Given the description of an element on the screen output the (x, y) to click on. 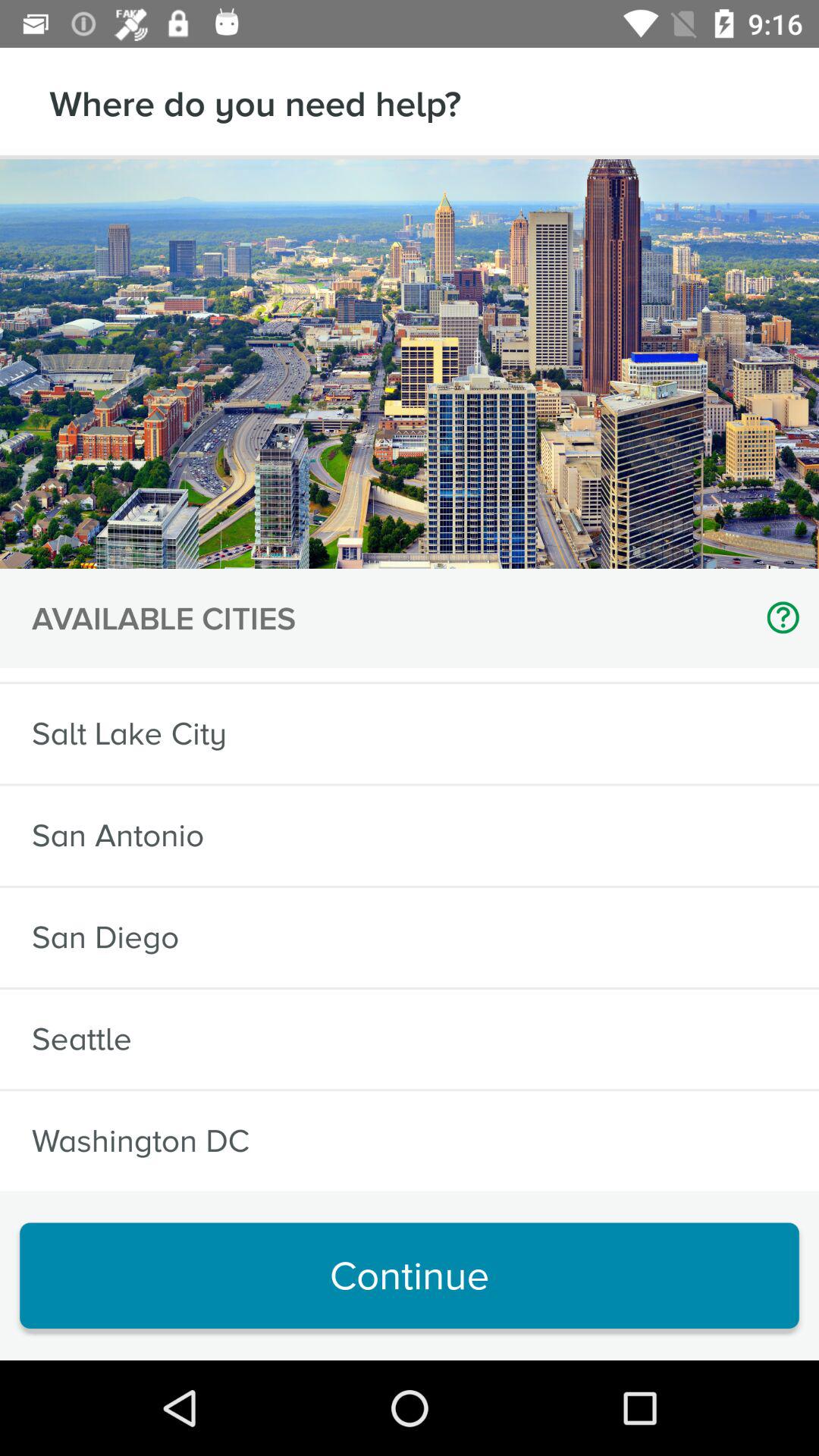
turn on the item below the salt lake city item (117, 835)
